Given the description of an element on the screen output the (x, y) to click on. 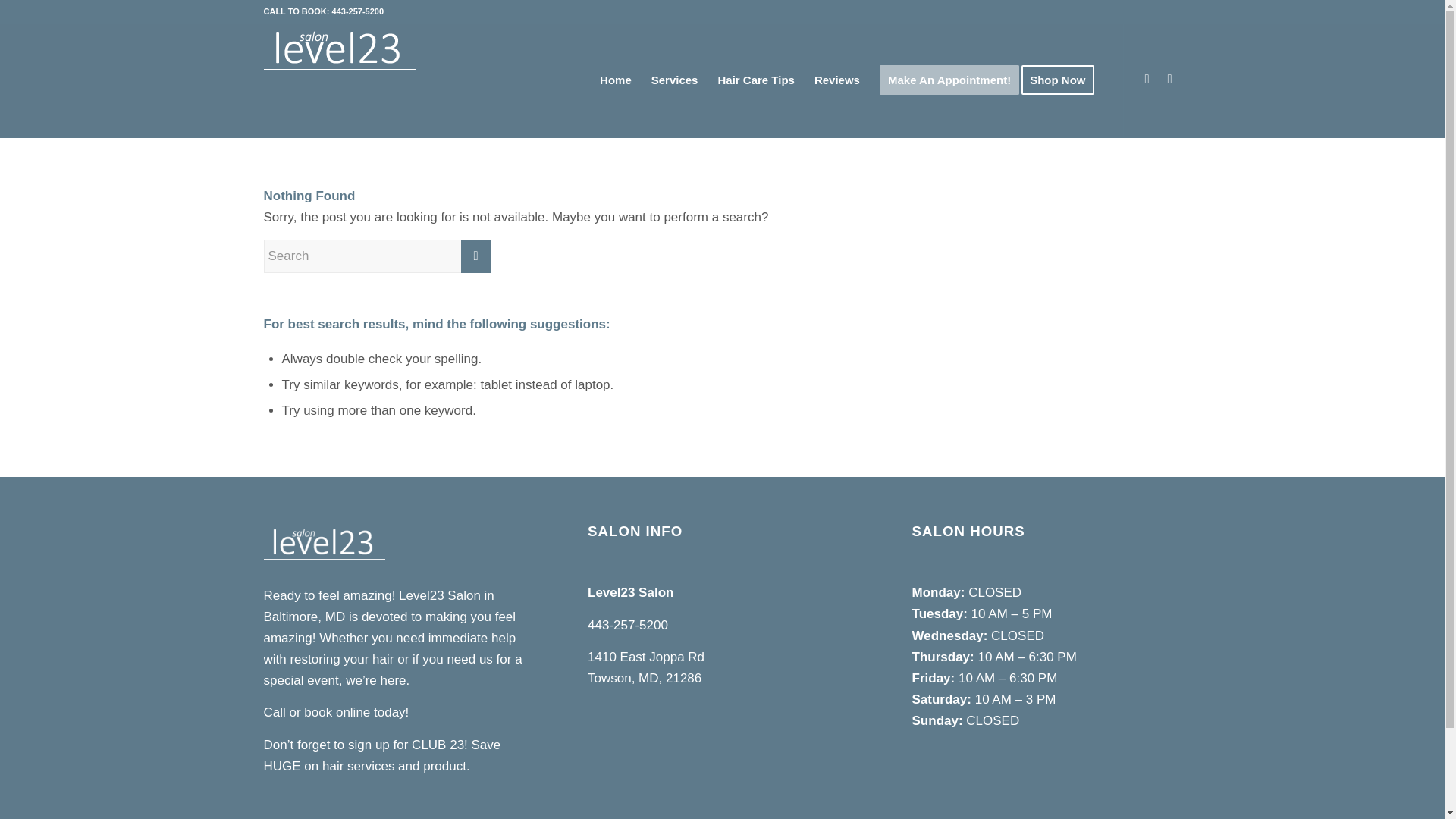
logo (338, 53)
Instagram (1146, 78)
Make An Appointment! (949, 80)
Facebook (1169, 78)
